Given the description of an element on the screen output the (x, y) to click on. 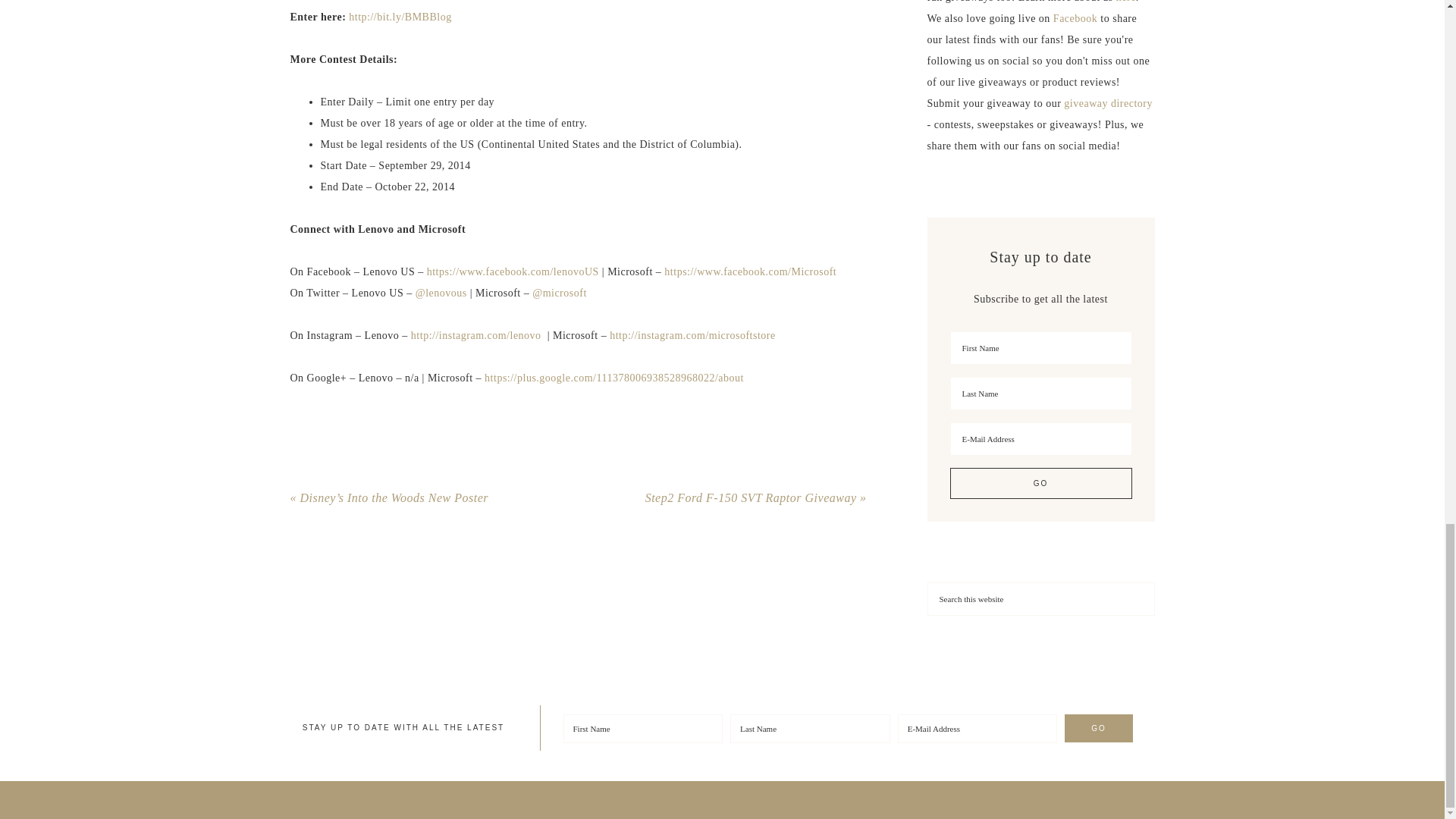
Go (1040, 482)
Go (1098, 728)
